Given the description of an element on the screen output the (x, y) to click on. 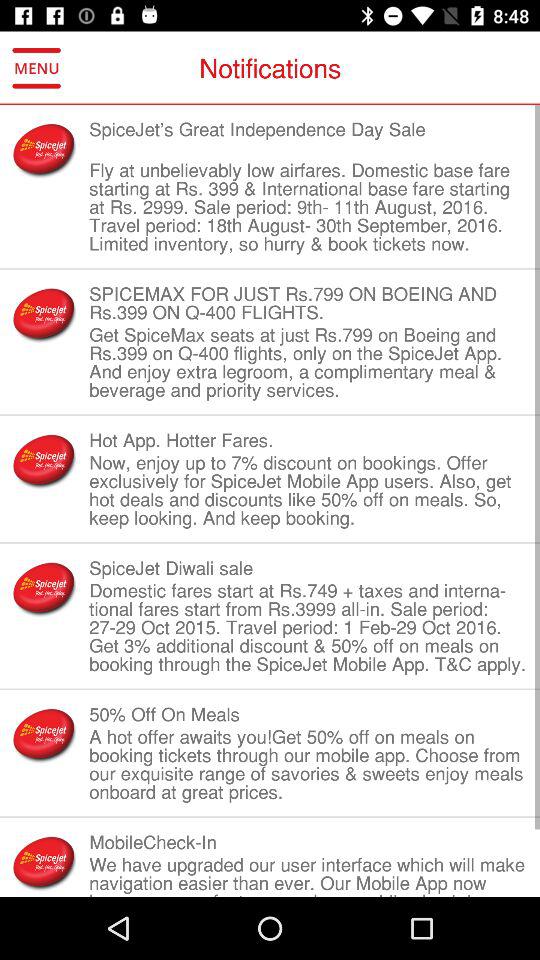
press icon next to 50 off on icon (44, 734)
